Given the description of an element on the screen output the (x, y) to click on. 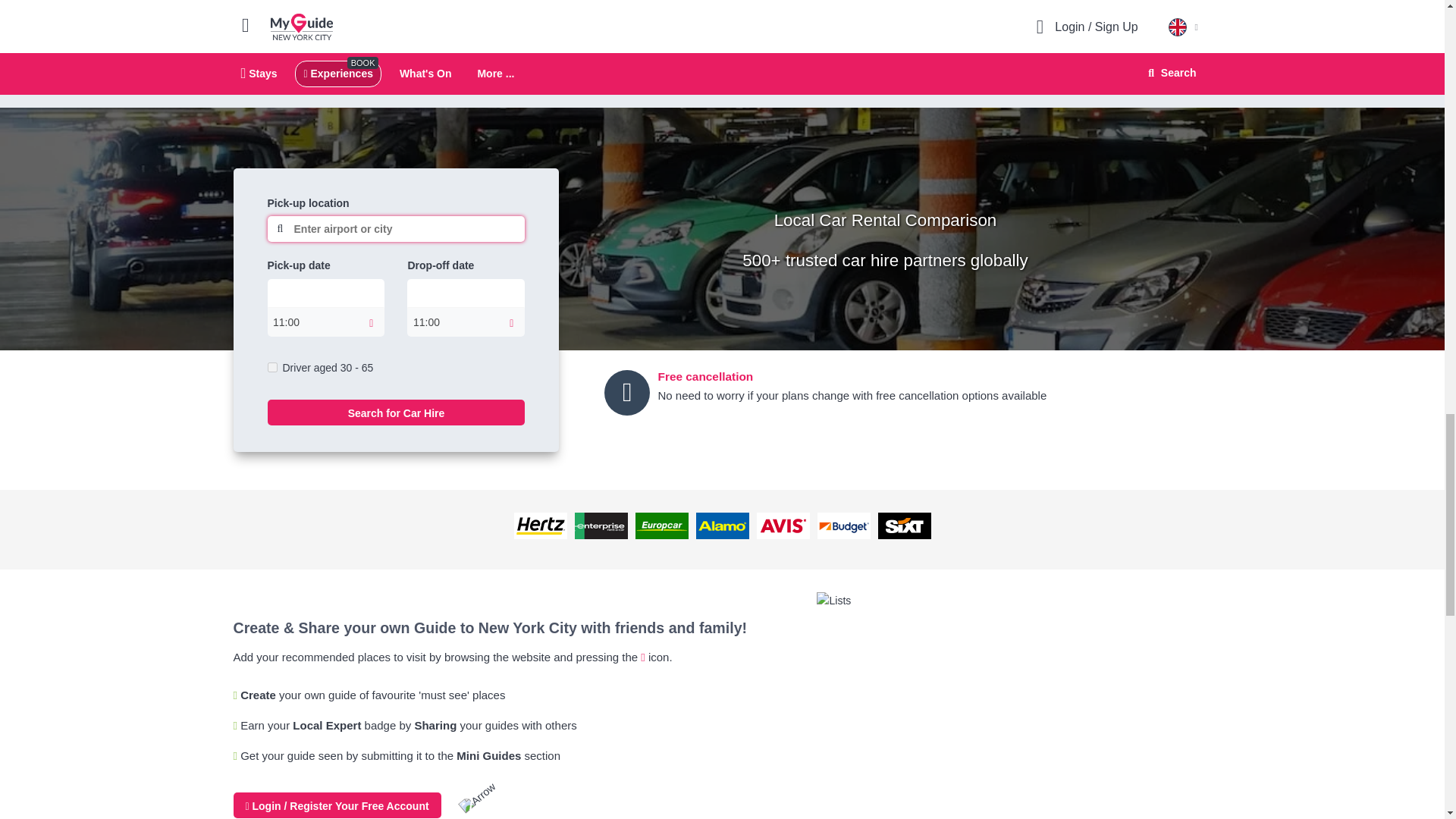
on (271, 367)
